Given the description of an element on the screen output the (x, y) to click on. 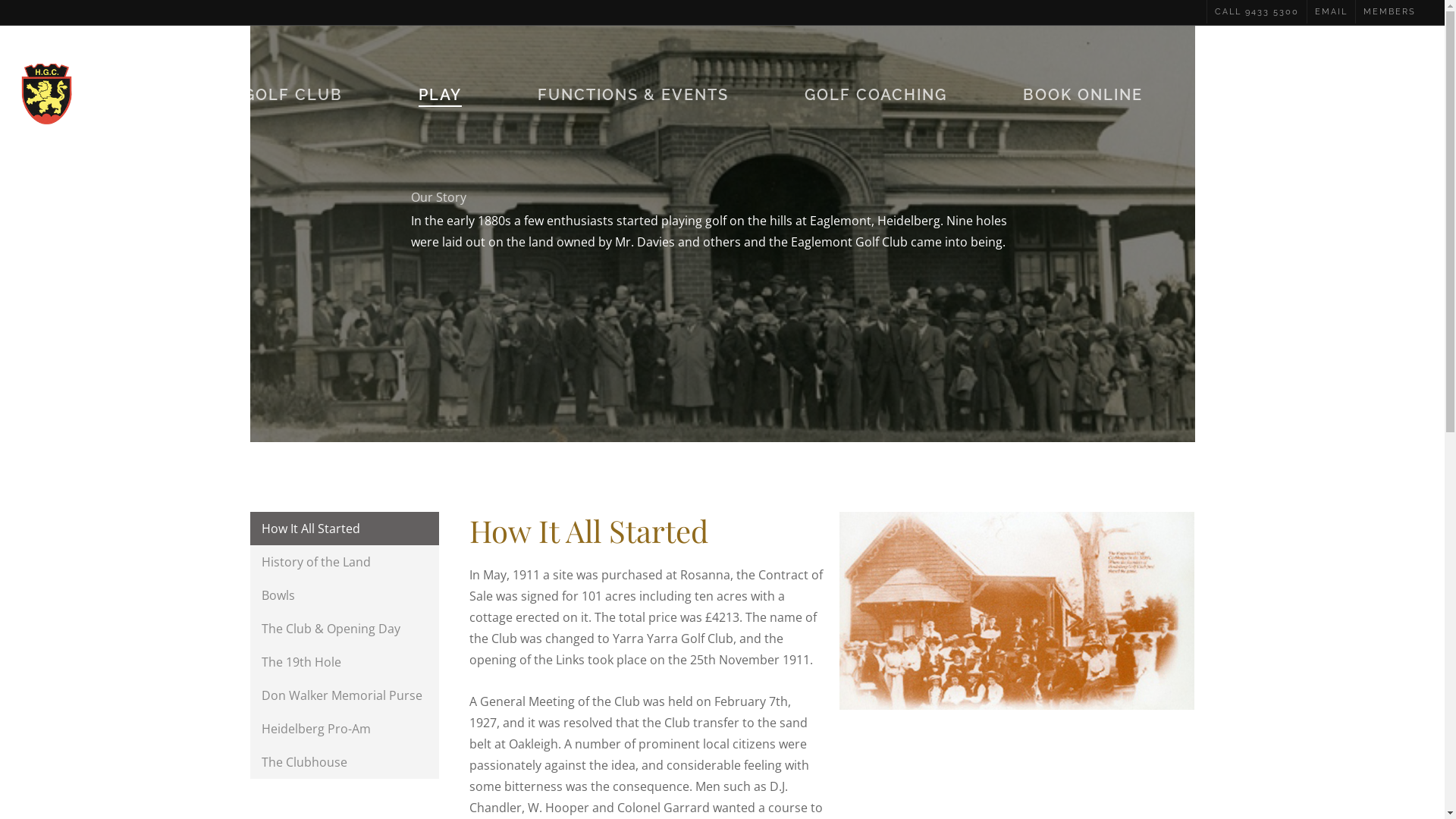
Heidelberg Pro-Am Element type: text (344, 728)
CALL 9433 5300 Element type: text (1256, 11)
MEMBERS Element type: text (1389, 11)
Don Walker Memorial Purse Element type: text (344, 695)
The 19th Hole Element type: text (344, 661)
BOOK ONLINE Element type: text (1082, 93)
Bowls Element type: text (344, 594)
History of the Land Element type: text (344, 561)
The Club & Opening Day Element type: text (344, 628)
The Clubhouse Element type: text (344, 761)
HEIDELBERG GOLF CLUB Element type: text (235, 93)
EMAIL Element type: text (1330, 11)
How It All Started Element type: text (344, 528)
PLAY Element type: text (439, 93)
GOLF COACHING Element type: text (875, 93)
FUNCTIONS & EVENTS Element type: text (632, 93)
